Given the description of an element on the screen output the (x, y) to click on. 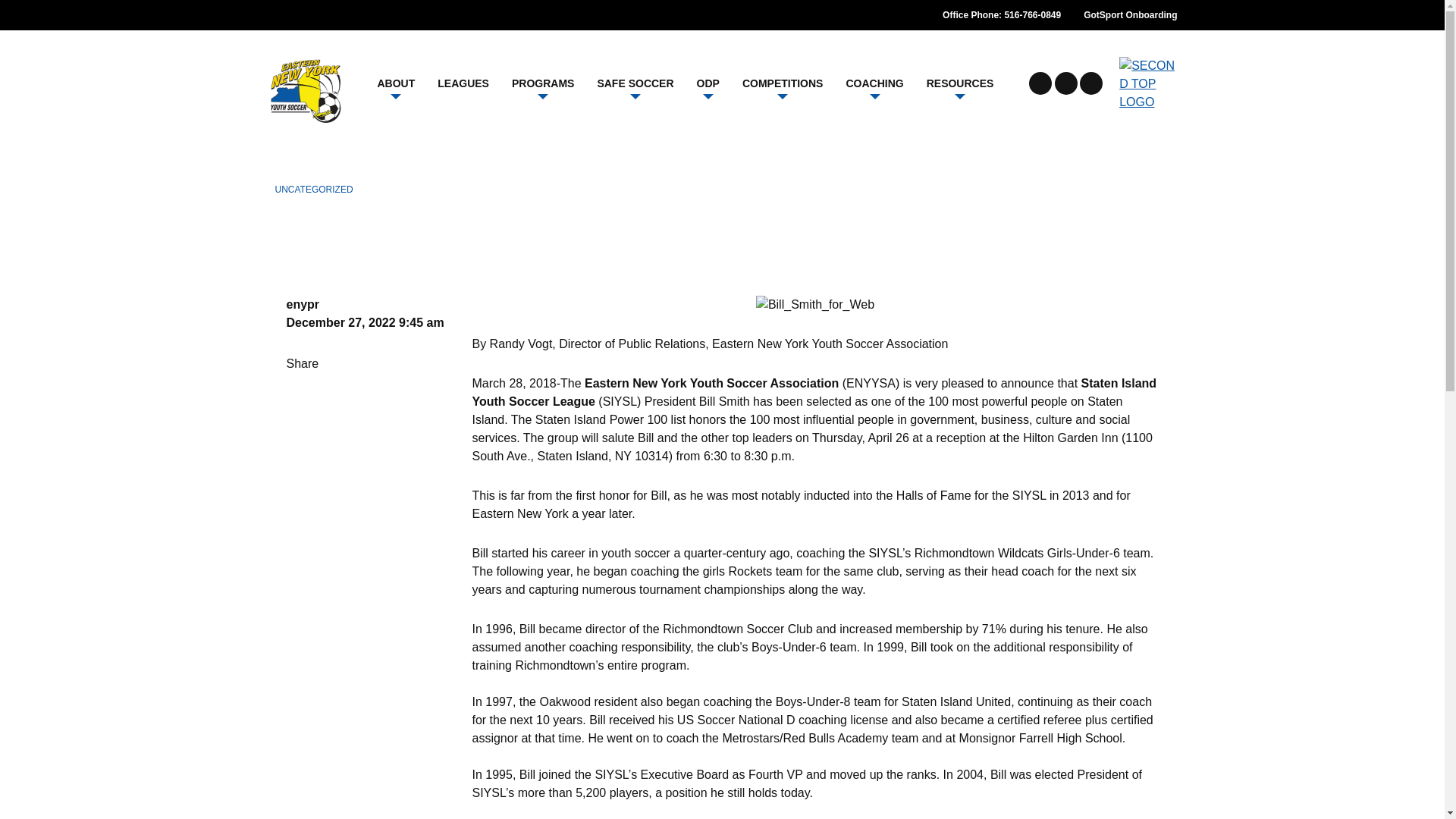
ODP (707, 83)
Office Phone: 516-766-0849 (1001, 15)
GotSport Onboarding (1129, 15)
LEAGUES (463, 83)
SAFE SOCCER (634, 83)
PROGRAMS (542, 83)
ABOUT (395, 83)
